Given the description of an element on the screen output the (x, y) to click on. 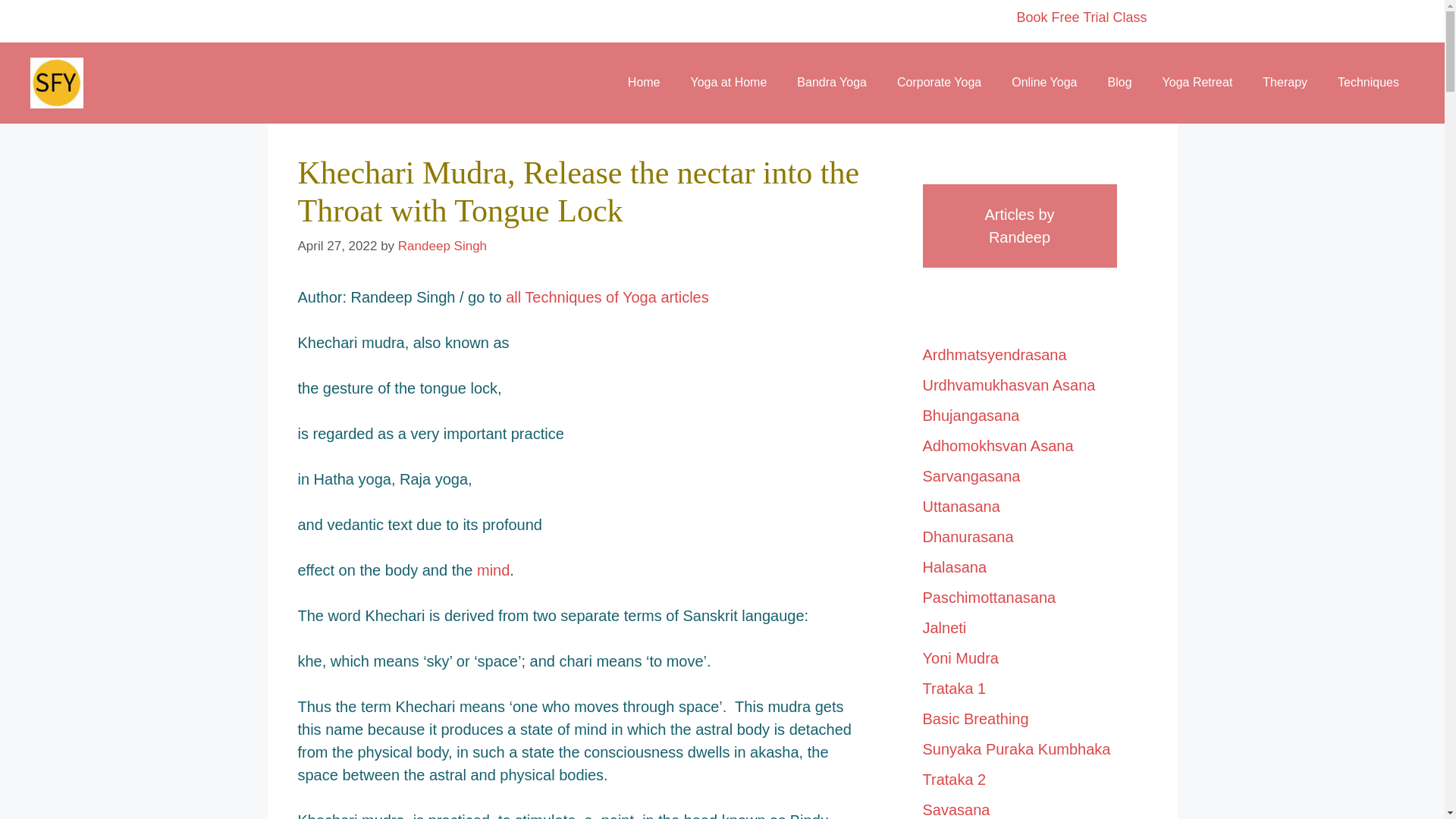
Ardhmatsyendrasana (993, 353)
Blog (1119, 82)
Randeep Singh (441, 246)
View all posts by Randeep Singh (441, 246)
Urdhvamukhasvan Asana (1007, 384)
Halasana (954, 565)
Sarvangasana (970, 475)
mind (493, 569)
Paschimottanasana (988, 596)
Bhujangasana (970, 414)
Therapy (1284, 82)
Yoga at Home (729, 82)
Book Free Trial Class (1081, 17)
all Techniques of Yoga articles (607, 297)
Home (643, 82)
